Given the description of an element on the screen output the (x, y) to click on. 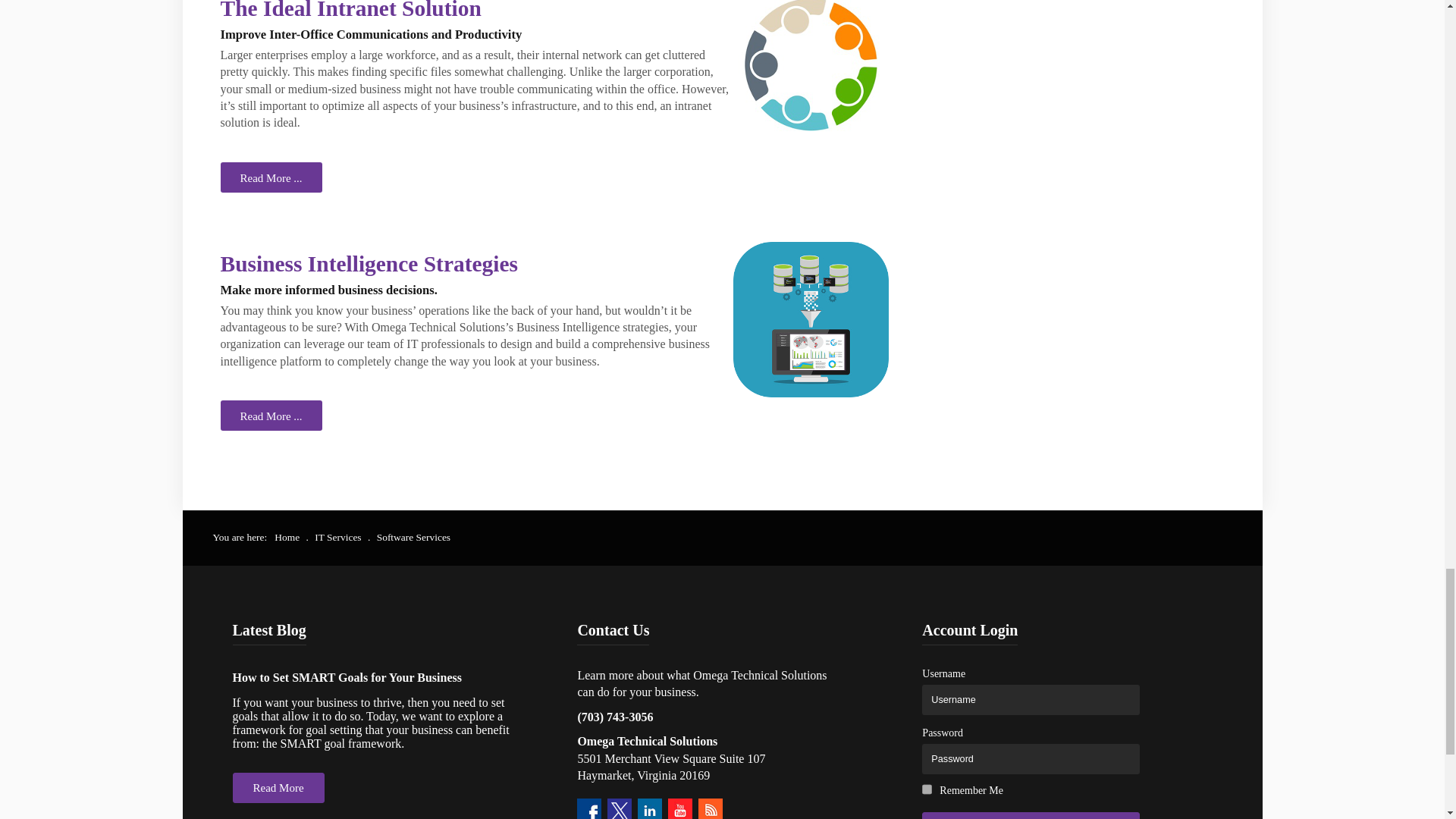
yes (926, 788)
